Given the description of an element on the screen output the (x, y) to click on. 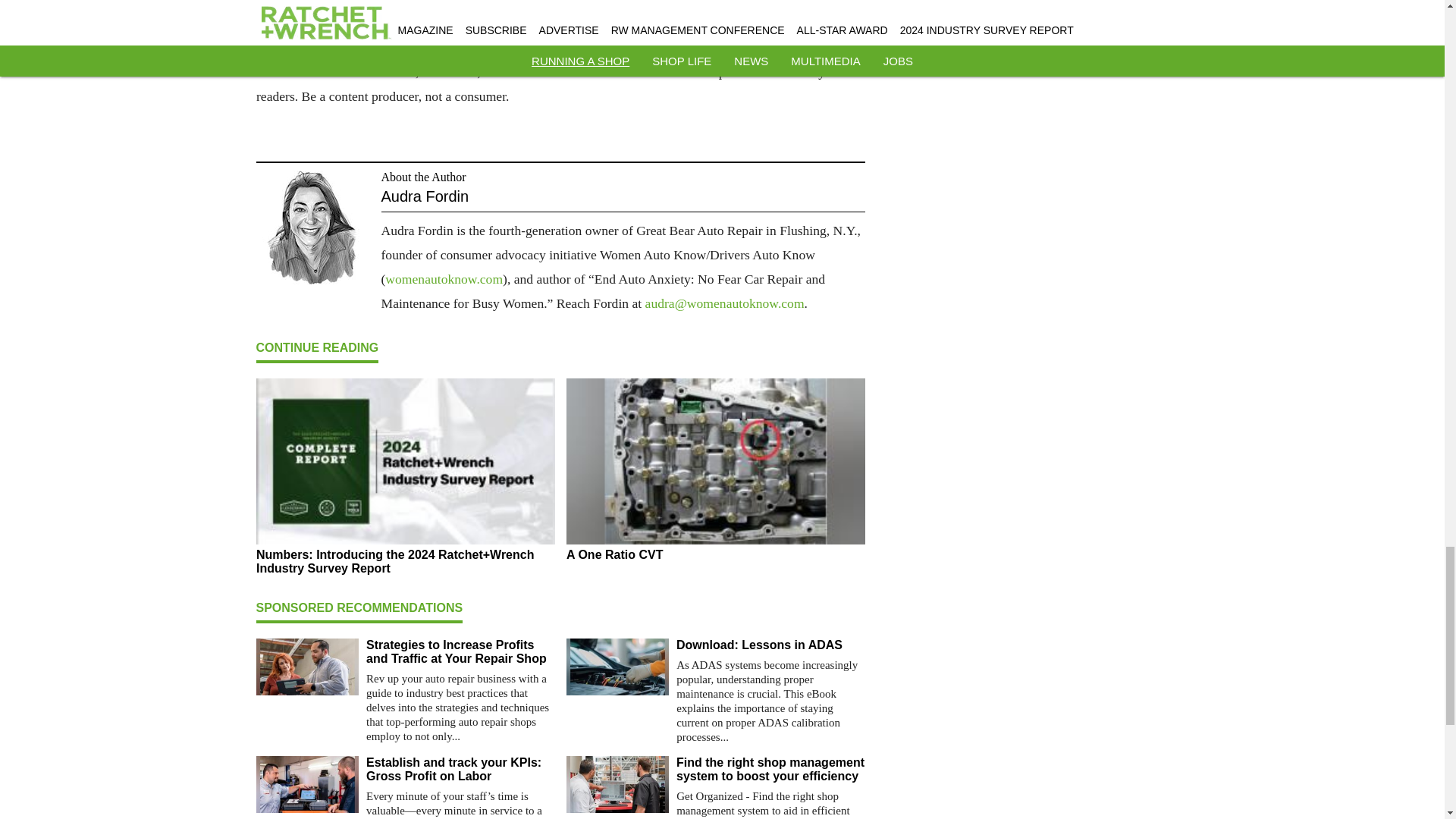
Establish and track your KPIs: Gross Profit on Labor (459, 768)
Download: Lessons in ADAS (770, 644)
womenautoknow.com (443, 278)
A One Ratio CVT (715, 554)
